Given the description of an element on the screen output the (x, y) to click on. 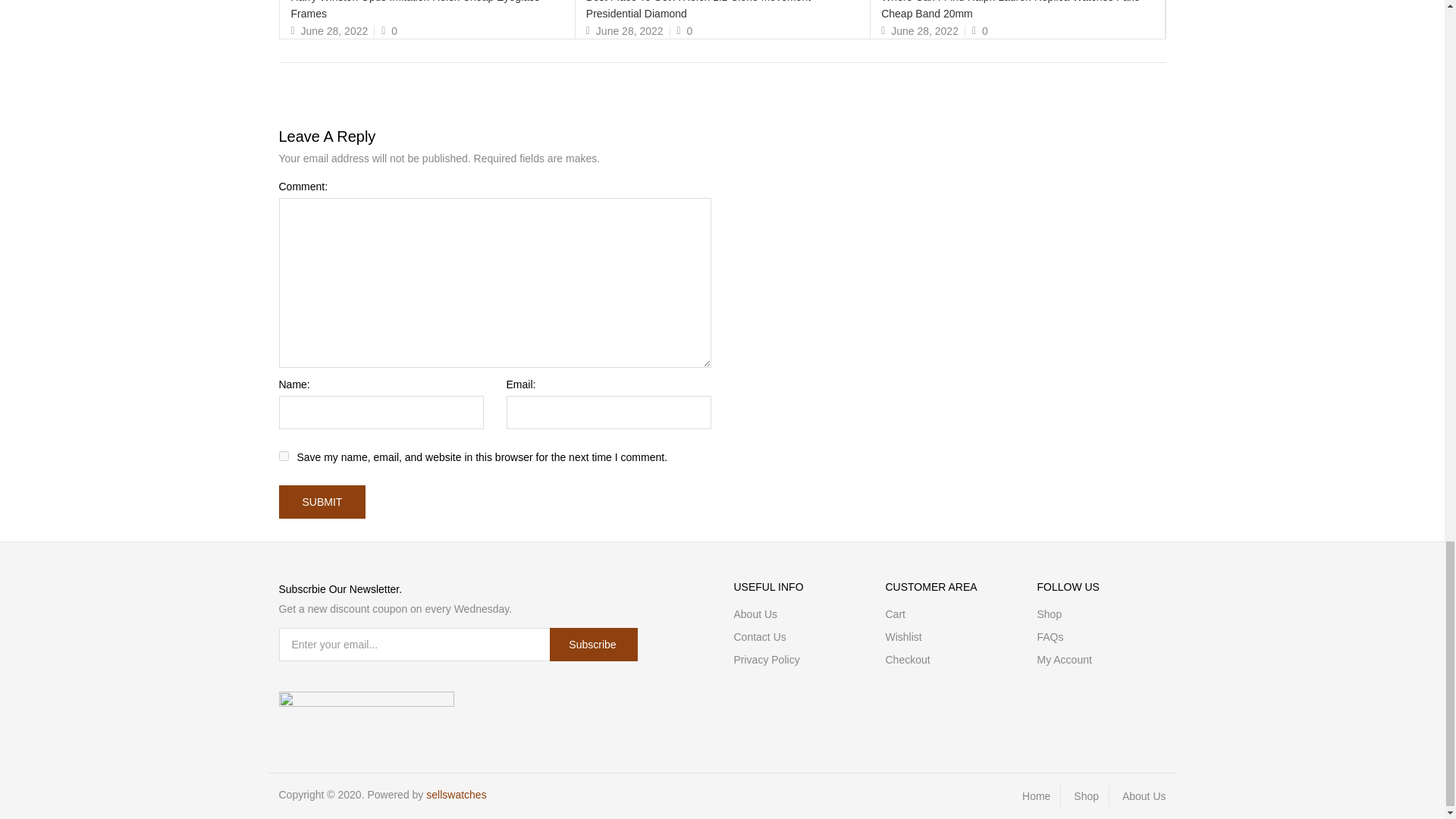
subscribe (593, 644)
submit (322, 501)
yes (283, 456)
payments (366, 700)
